Given the description of an element on the screen output the (x, y) to click on. 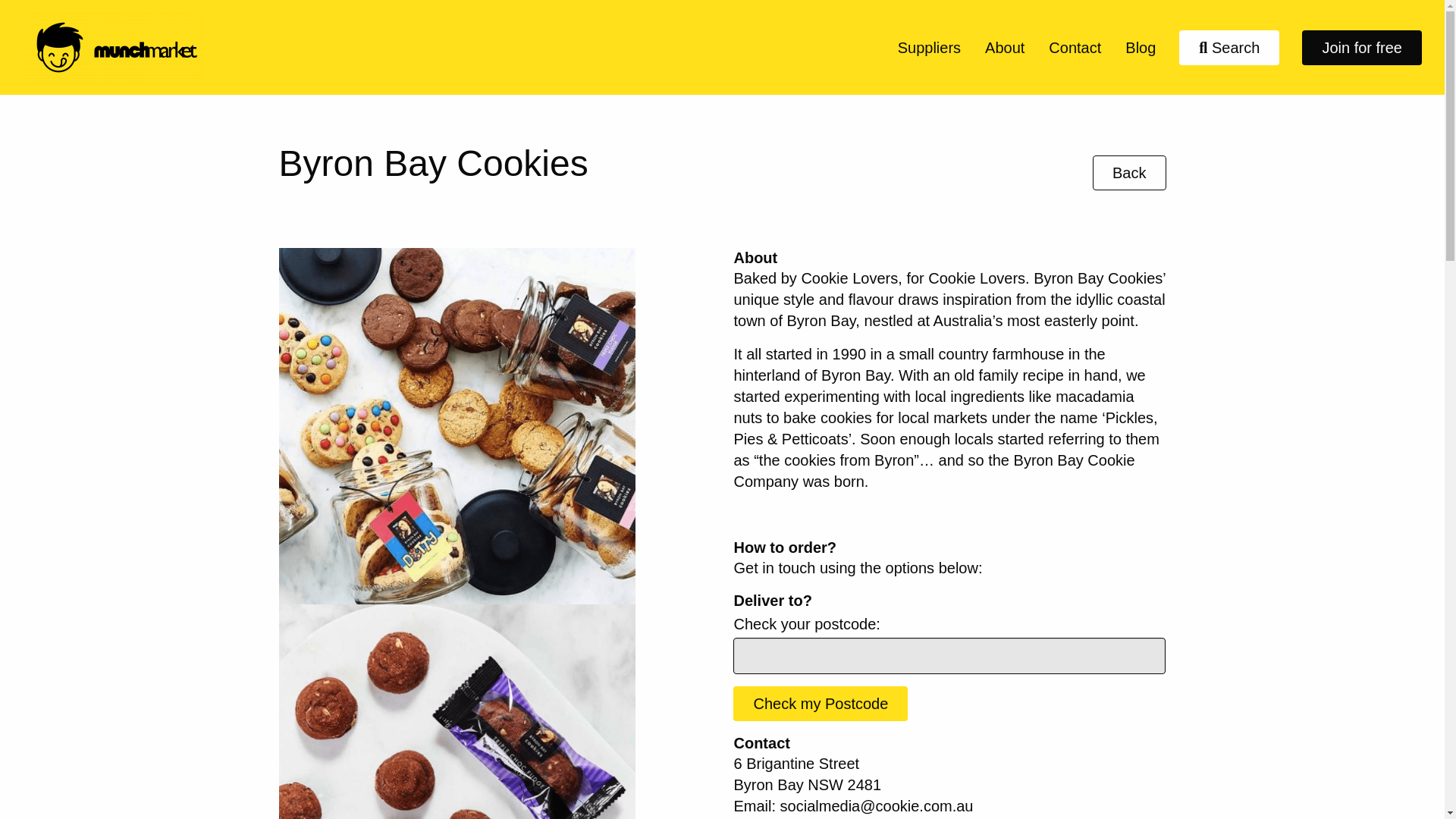
Join for free (1361, 47)
Suppliers (928, 47)
Contact (1074, 47)
Search (1229, 47)
Blog (1140, 47)
Check my Postcode (820, 703)
About (1004, 47)
Back (1129, 172)
